Given the description of an element on the screen output the (x, y) to click on. 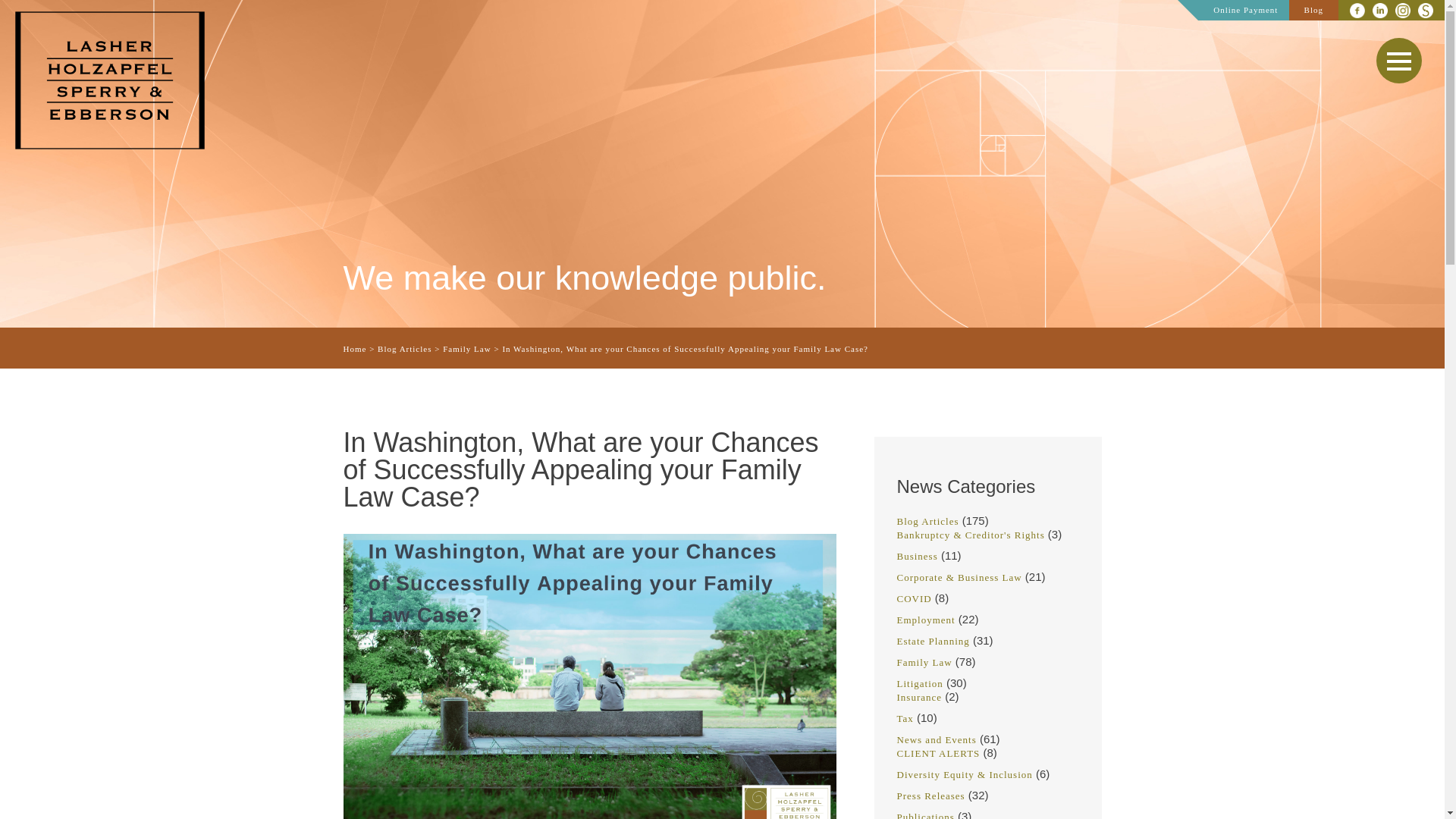
Online Payment (1245, 9)
Blog (1313, 9)
Twitter (1357, 12)
Primary Menu (1398, 60)
Facebook (1380, 12)
Home (354, 347)
Instagram (1402, 12)
